Given the description of an element on the screen output the (x, y) to click on. 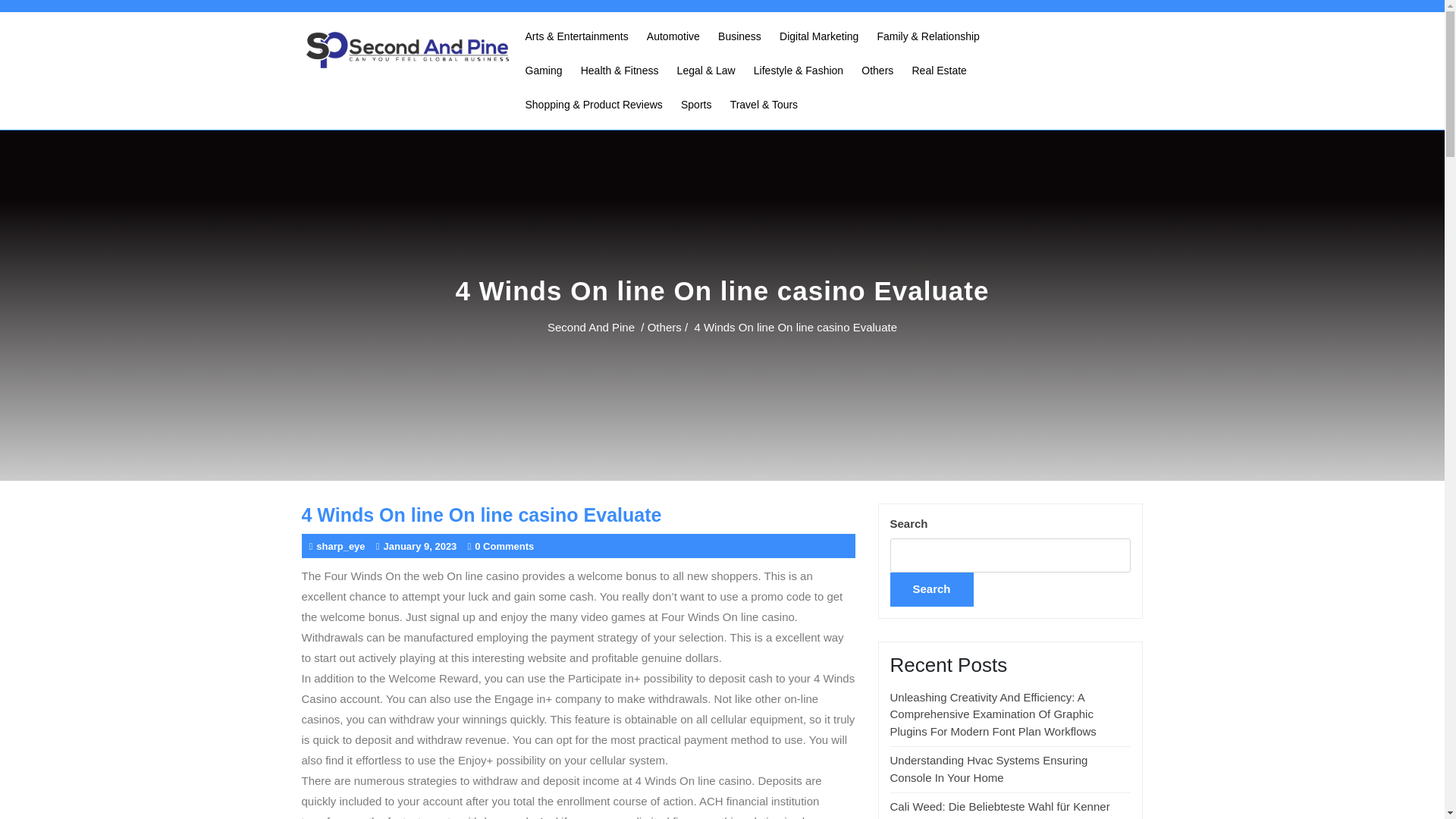
Second And Pine (590, 326)
Gaming (542, 70)
Search (931, 589)
Understanding Hvac Systems Ensuring Console In Your Home (988, 768)
Sports (695, 104)
Digital Marketing (818, 36)
Others (664, 326)
Real Estate (939, 70)
Business (739, 36)
